Given the description of an element on the screen output the (x, y) to click on. 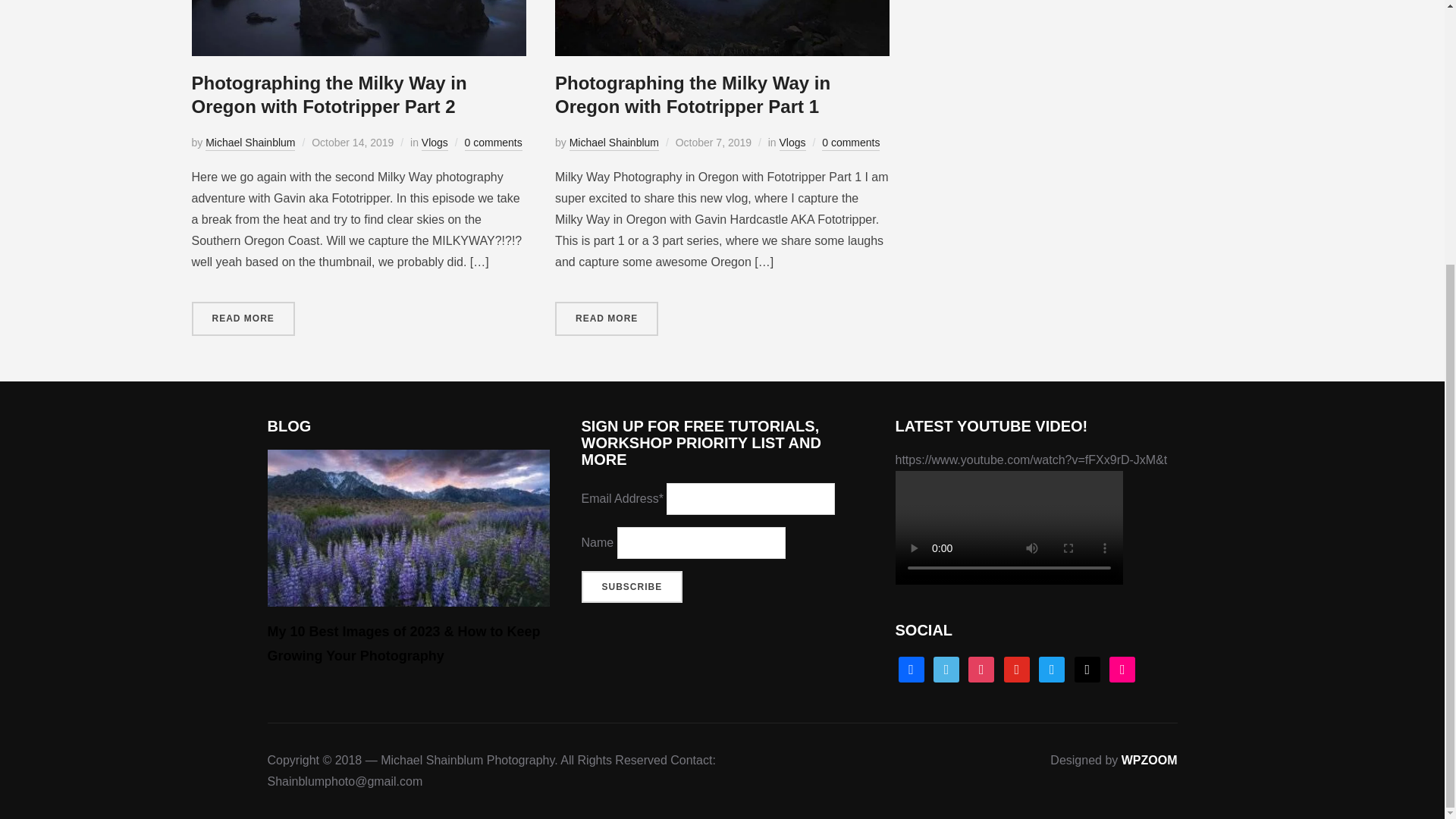
Posts by Michael Shainblum (250, 143)
Follow Me (1051, 668)
Posts by Michael Shainblum (614, 143)
Friend me on Facebook (910, 668)
Subscribe (631, 586)
